Given the description of an element on the screen output the (x, y) to click on. 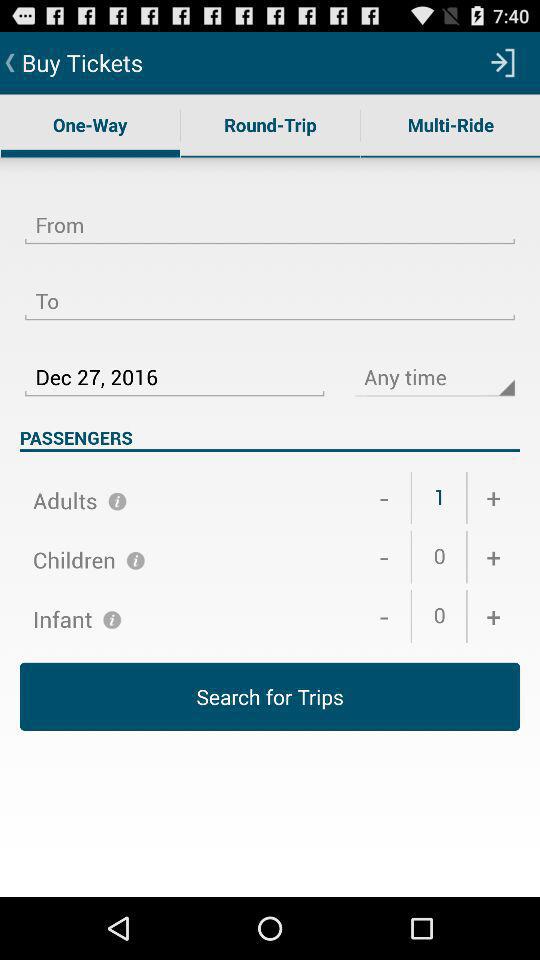
choose the icon below + item (493, 557)
